Given the description of an element on the screen output the (x, y) to click on. 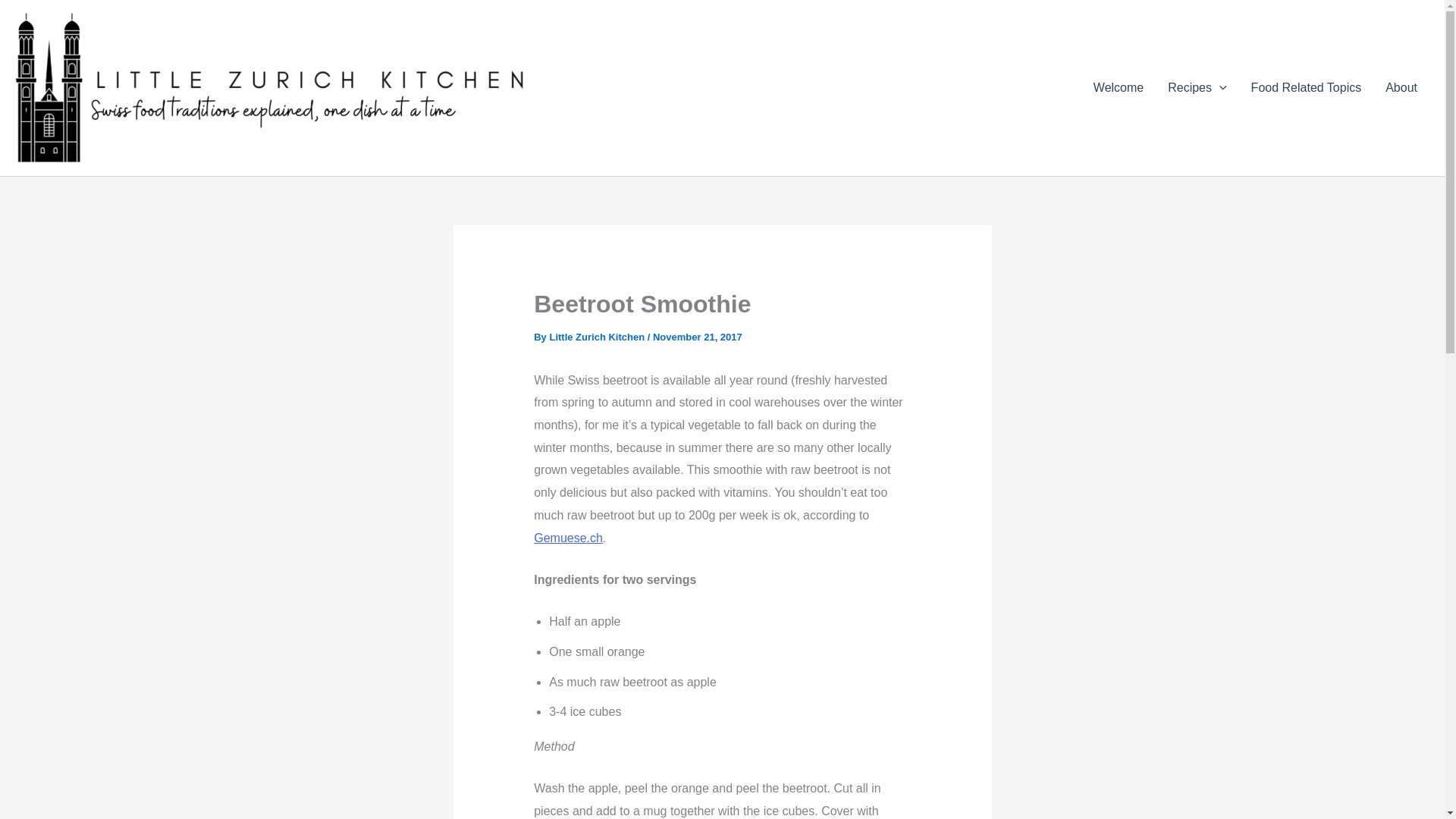
Little Zurich Kitchen (597, 337)
Food Related Topics (1306, 87)
Gemuese.ch (568, 537)
View all posts by Little Zurich Kitchen (597, 337)
About (1401, 87)
Recipes (1197, 87)
Welcome (1118, 87)
